Given the description of an element on the screen output the (x, y) to click on. 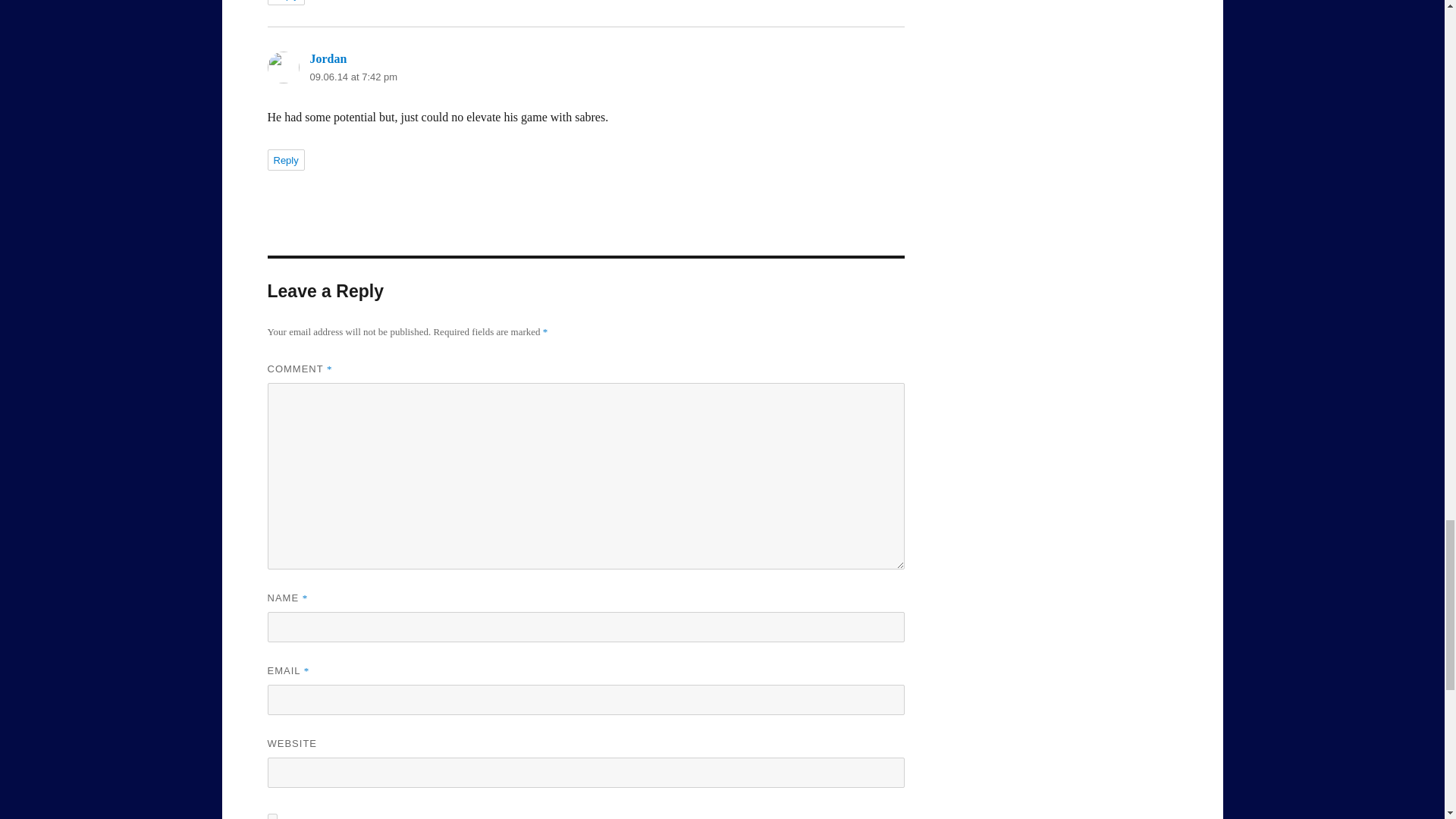
Reply (285, 159)
09.06.14 at 7:42 pm (352, 76)
Reply (285, 2)
Jordan (327, 58)
yes (271, 816)
